Given the description of an element on the screen output the (x, y) to click on. 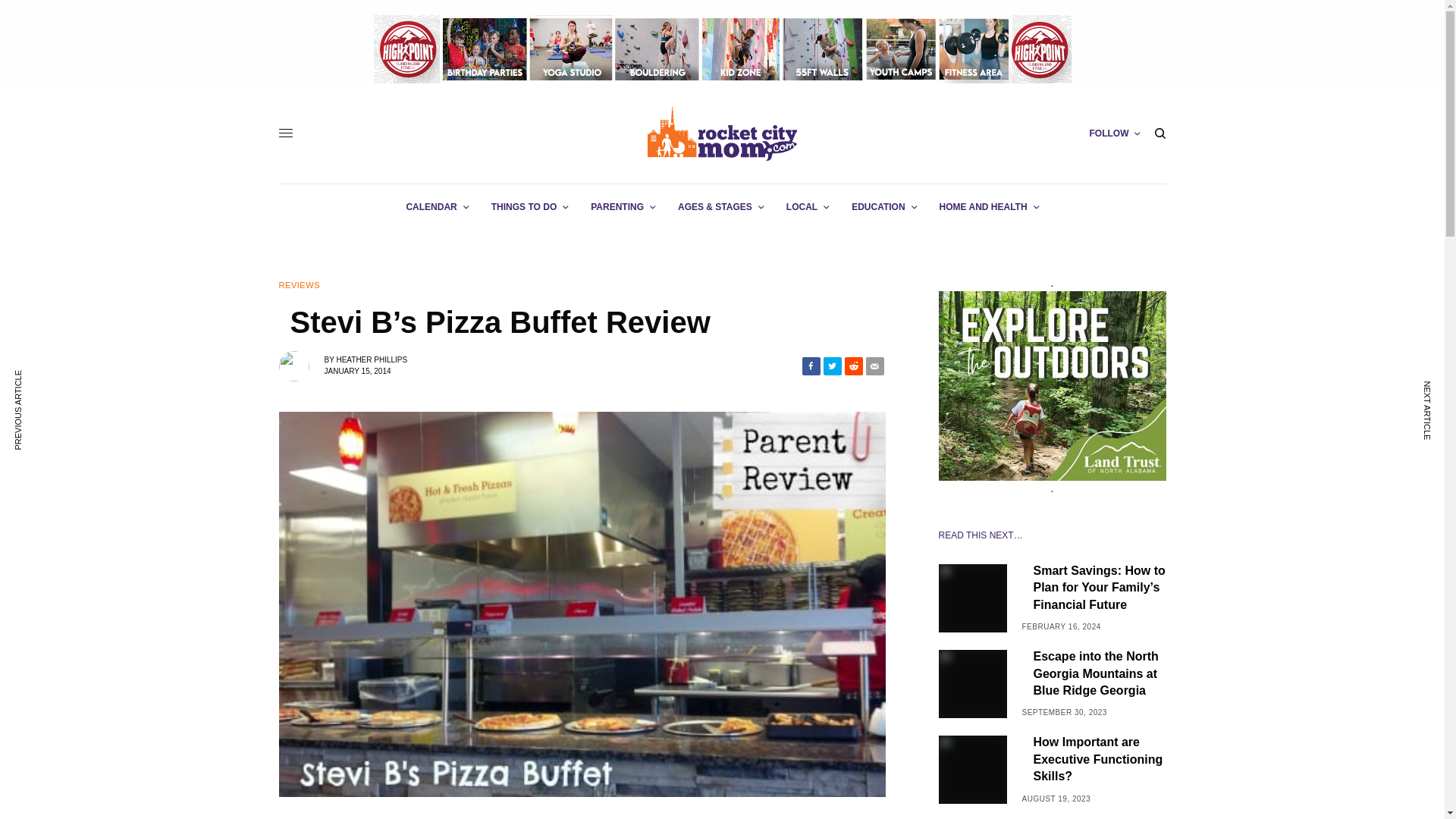
CALENDAR (436, 207)
FOLLOW (1114, 133)
PARENTING (623, 207)
THINGS TO DO (529, 207)
Posts by Heather Phillips (371, 359)
How Important are Executive Functioning Skills? (1099, 758)
